Given the description of an element on the screen output the (x, y) to click on. 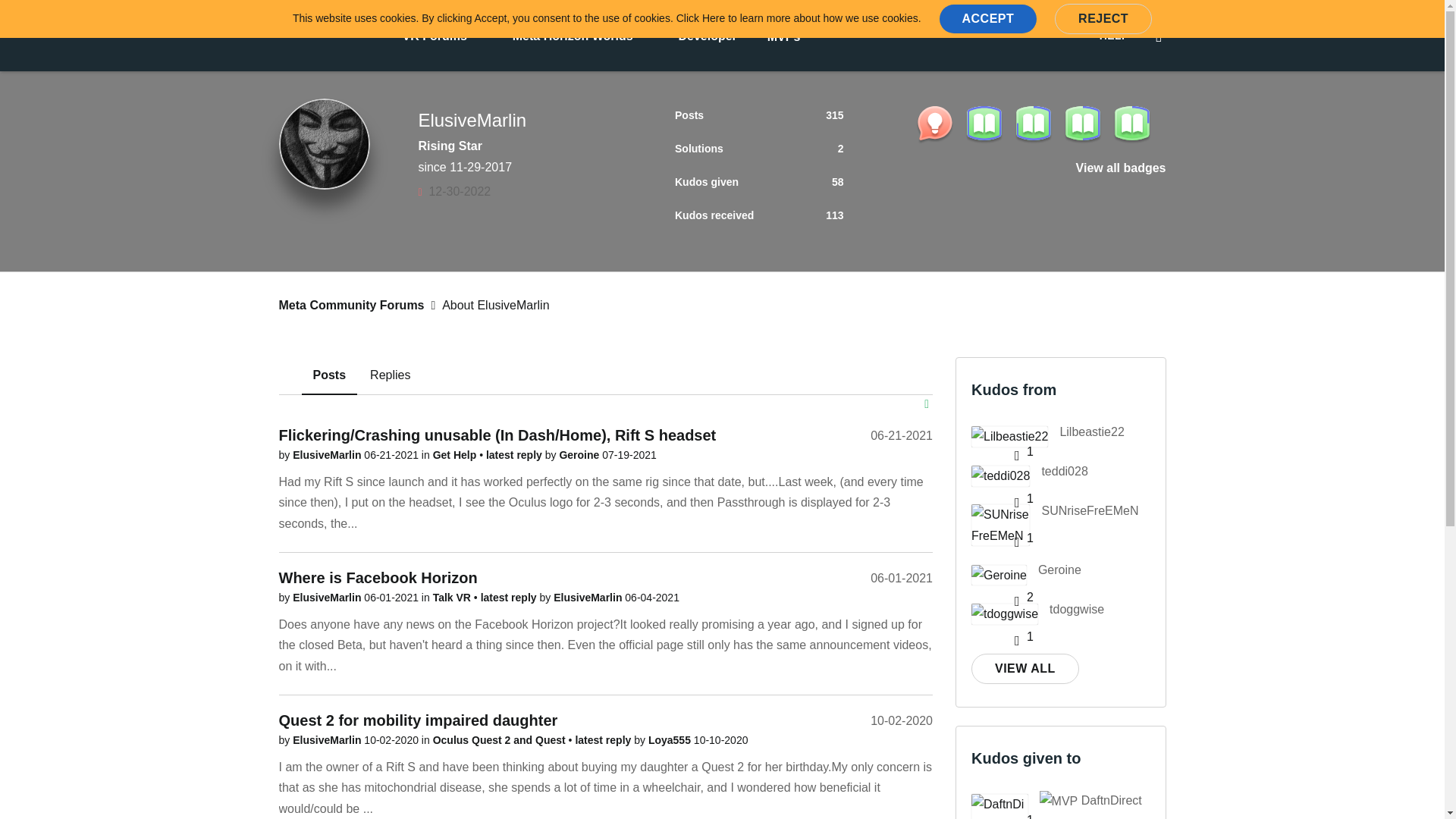
Avid Reader 1 (934, 177)
Veteran 1 (1081, 194)
REJECT (1102, 19)
ElusiveMarlin (324, 143)
Share the Love 10 (983, 223)
Developer (706, 35)
Veteran 5 (1033, 165)
View profile (328, 454)
Veteran 4 (1081, 165)
Share the Love 25 (934, 223)
